Given the description of an element on the screen output the (x, y) to click on. 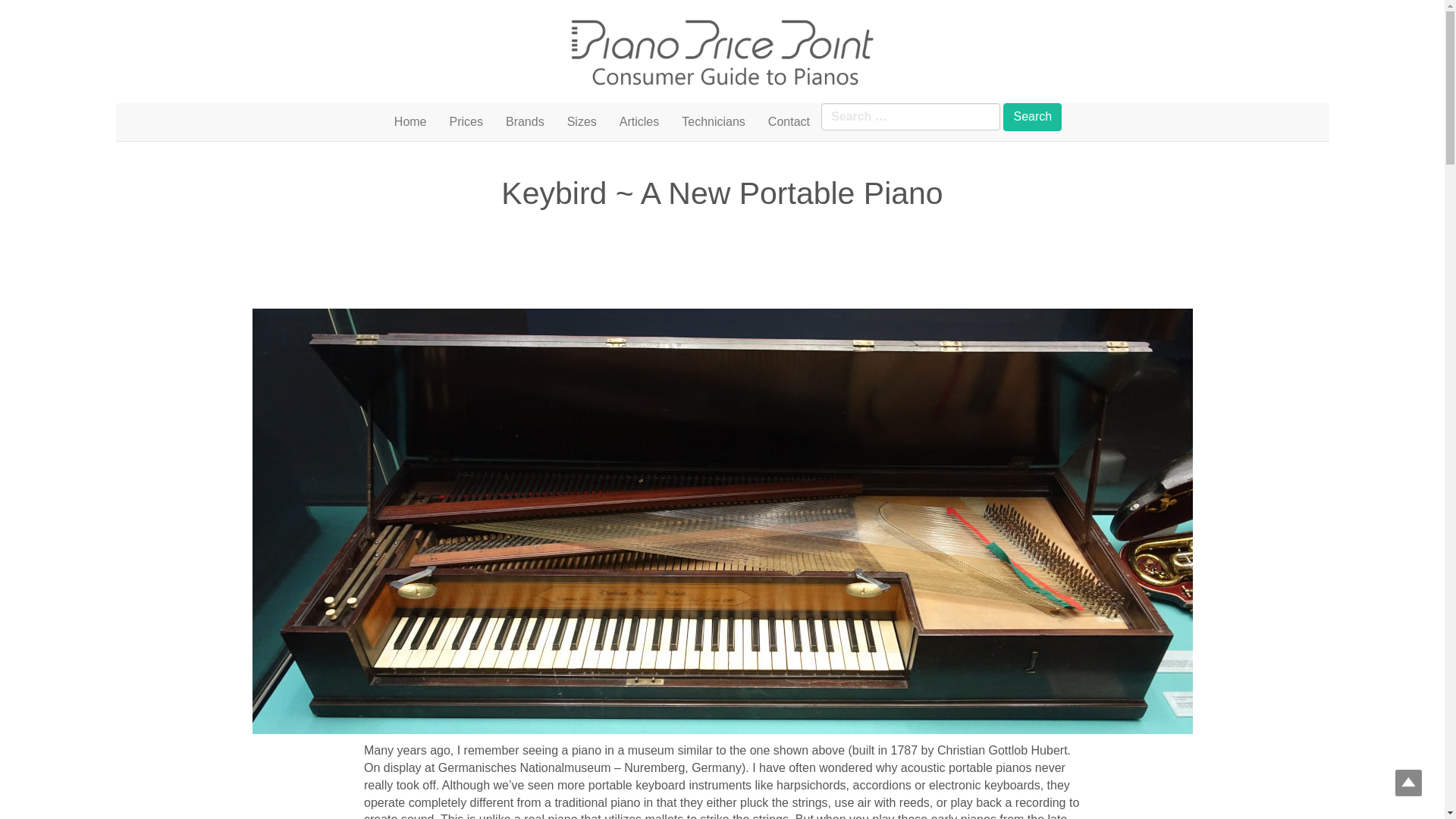
Search (1032, 117)
Prices (466, 121)
Contact (789, 121)
Articles (638, 121)
Technicians (713, 121)
Search (1032, 117)
Sizes (582, 121)
Contact (789, 121)
Brands (525, 121)
Search (1032, 117)
Home (410, 121)
Home (410, 121)
Sizes (582, 121)
Top (1408, 782)
Prices (466, 121)
